Given the description of an element on the screen output the (x, y) to click on. 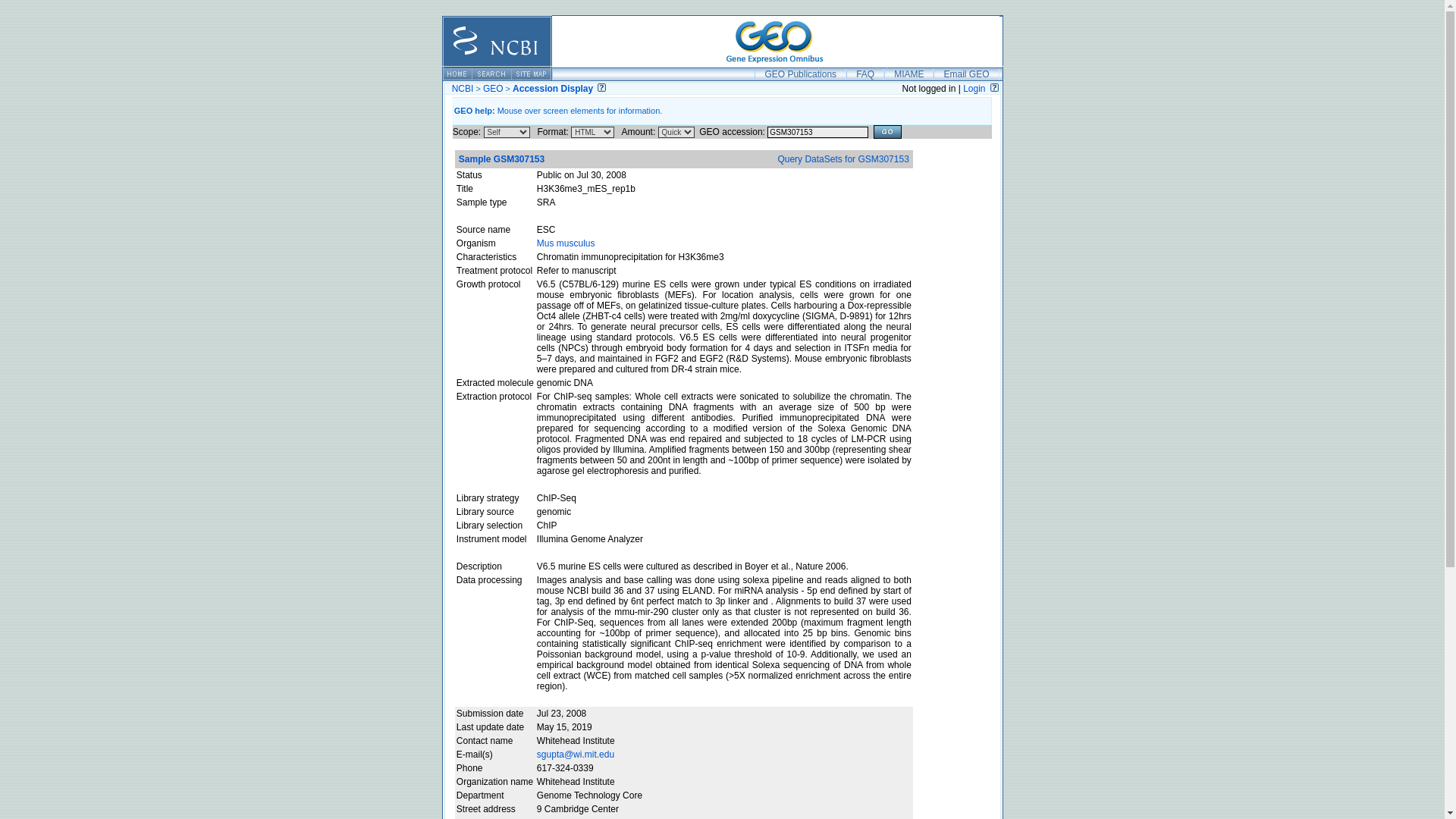
NCBI (462, 88)
Query DataSets for GSM307153 (842, 158)
Login (973, 88)
Sample GSM307153 (501, 158)
GSM307153 (817, 131)
Mus musculus (566, 243)
Email GEO (965, 73)
Minimum Information About a Microarray Experiment (908, 73)
Accession Display (552, 88)
GEO Publications (799, 73)
